Given the description of an element on the screen output the (x, y) to click on. 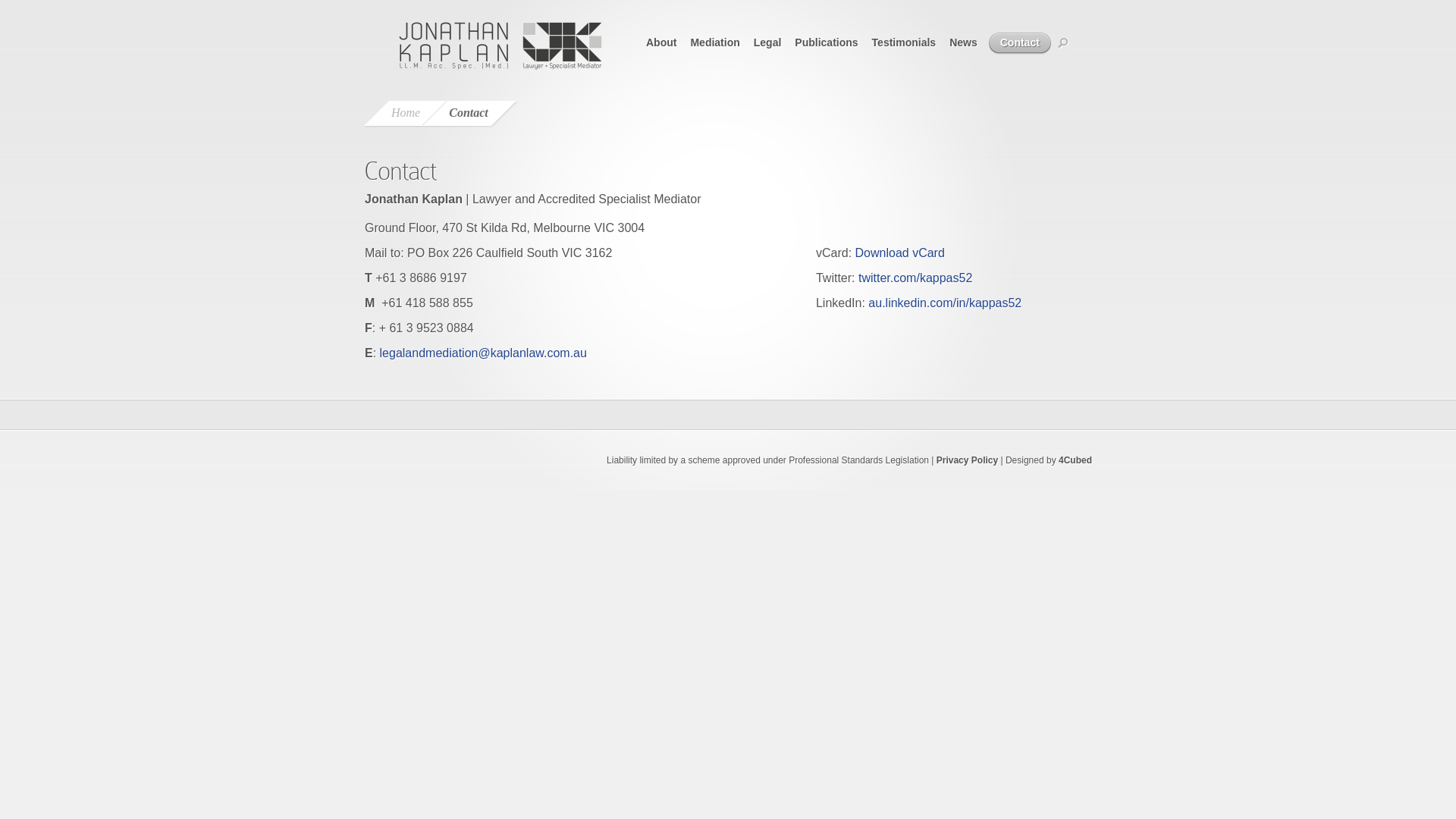
Contact Element type: text (1013, 43)
twitter.com/kappas52 Element type: text (915, 277)
au.linkedin.com/in/kappas52 Element type: text (944, 302)
Legal Element type: text (766, 42)
About Element type: text (659, 42)
Download vCard Element type: text (899, 252)
legalandmediation@kaplanlaw.com.au Element type: text (482, 352)
Privacy Policy Element type: text (966, 460)
News Element type: text (962, 42)
Testimonials Element type: text (902, 42)
Mediation Element type: text (713, 42)
Publications Element type: text (824, 42)
Home Element type: text (405, 112)
4Cubed Element type: text (1075, 460)
